Given the description of an element on the screen output the (x, y) to click on. 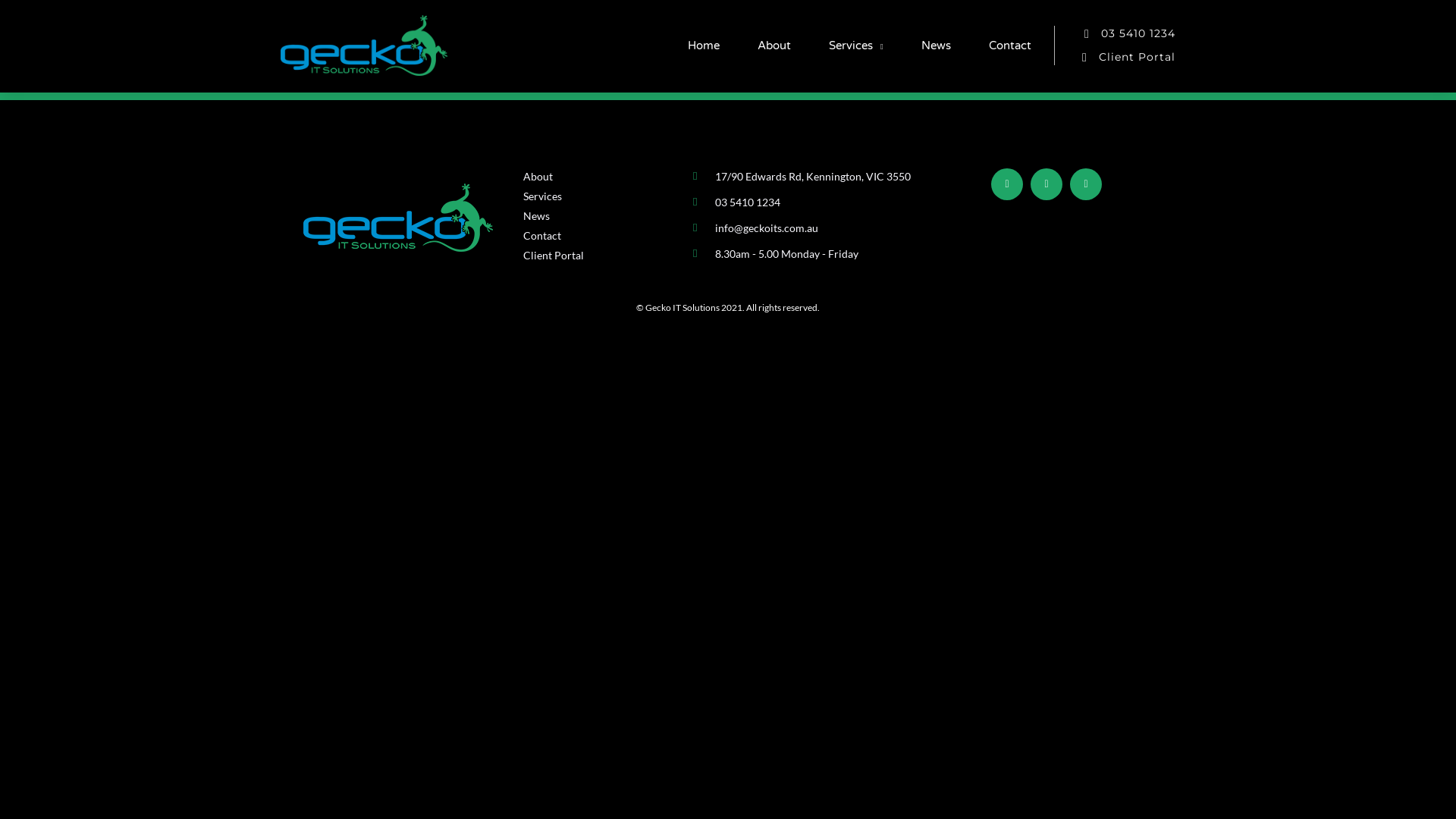
News Element type: text (600, 215)
About Element type: text (773, 45)
News Element type: text (935, 45)
Contact Element type: text (1009, 45)
Client Portal Element type: text (600, 255)
Home Element type: text (703, 45)
Contact Element type: text (600, 235)
About Element type: text (600, 176)
Services Element type: text (855, 45)
03 5410 1234 Element type: text (1114, 33)
info@geckoits.com.au Element type: text (812, 227)
Services Element type: text (600, 195)
Client Portal Element type: text (1114, 57)
03 5410 1234 Element type: text (812, 202)
